Given the description of an element on the screen output the (x, y) to click on. 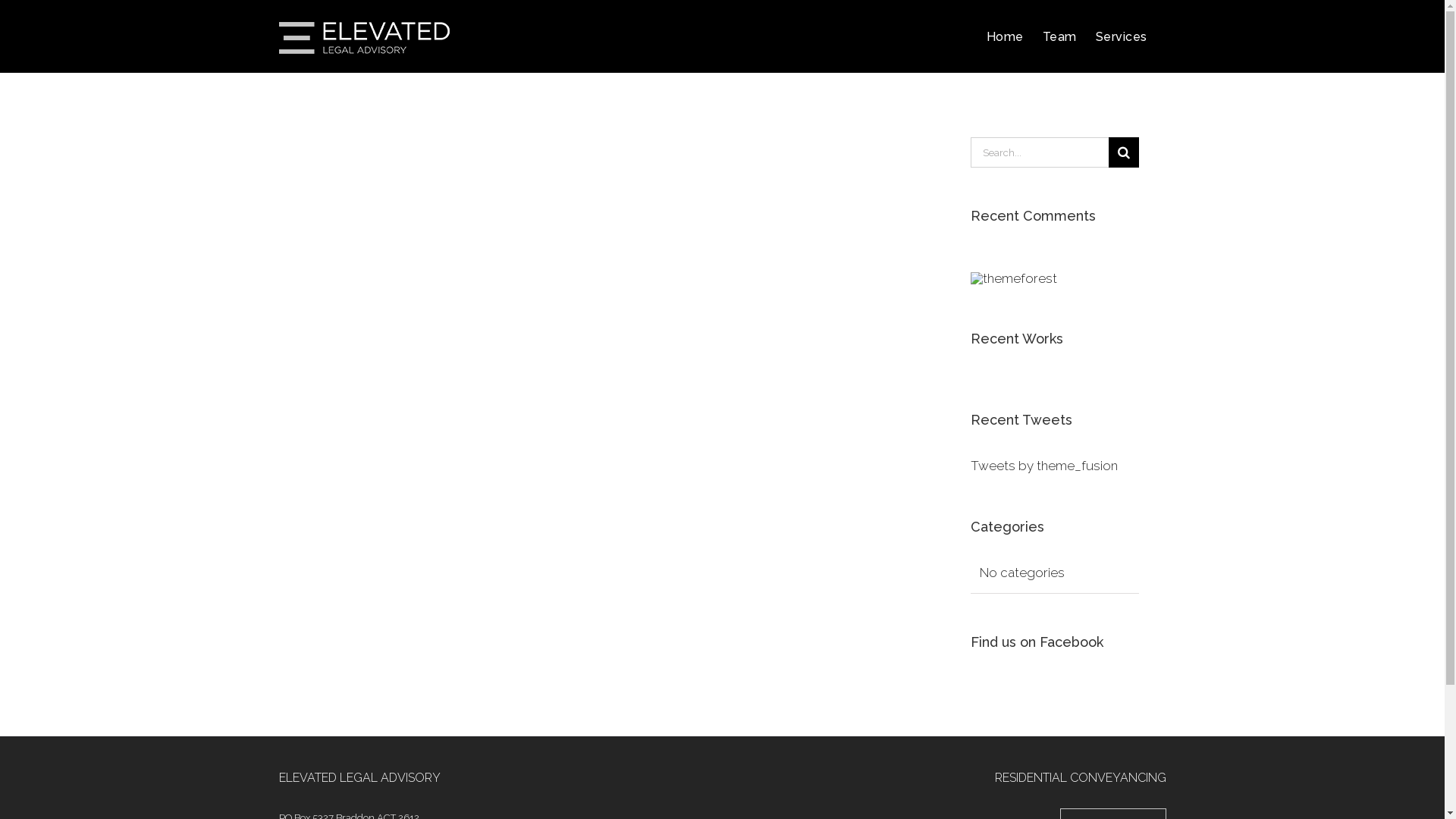
Team Element type: text (1058, 36)
Services Element type: text (1120, 36)
Tweets by theme_fusion Element type: text (1043, 465)
Home Element type: text (1003, 36)
